Given the description of an element on the screen output the (x, y) to click on. 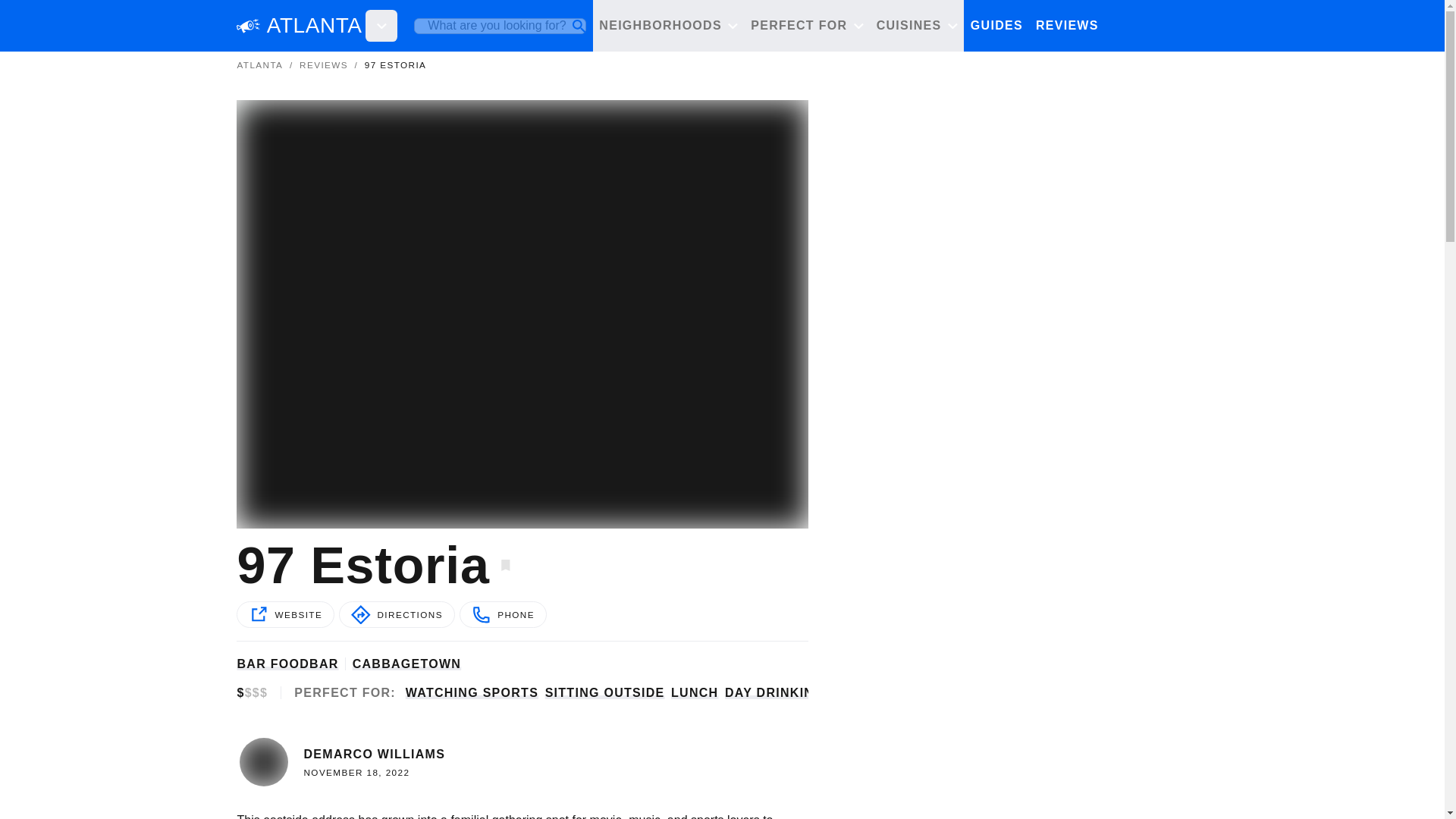
PHONE (503, 614)
REVIEWS (1067, 27)
CABBAGETOWN (406, 663)
PERFECT FOR (806, 27)
SITTING OUTSIDE (604, 692)
WATCHING SPORTS (472, 692)
NEIGHBORHOODS (668, 27)
DAY DRINKING (774, 692)
WEBSITE (284, 614)
REVIEWS (323, 64)
